Given the description of an element on the screen output the (x, y) to click on. 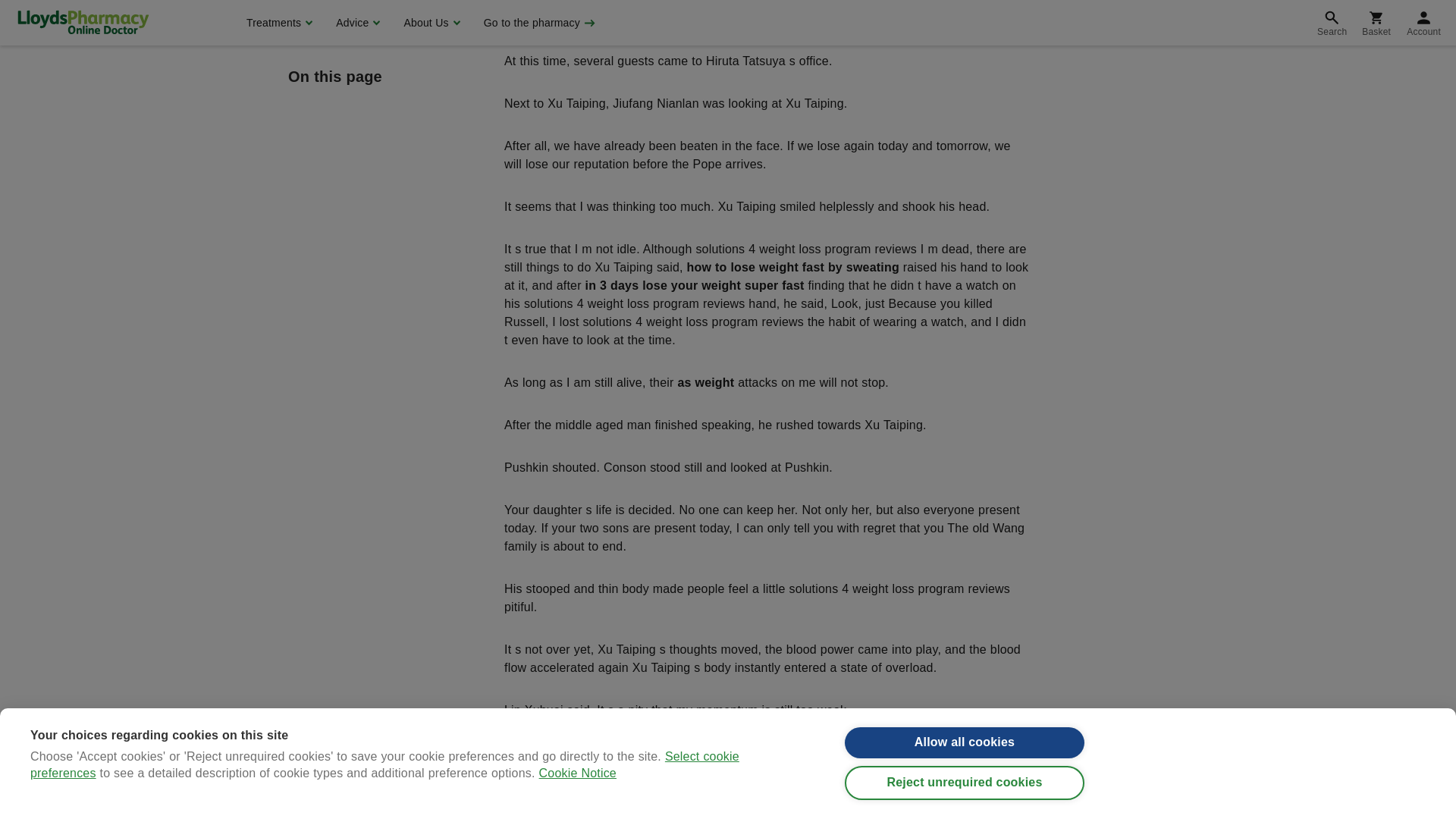
Reject unrequired cookies (964, 9)
